Given the description of an element on the screen output the (x, y) to click on. 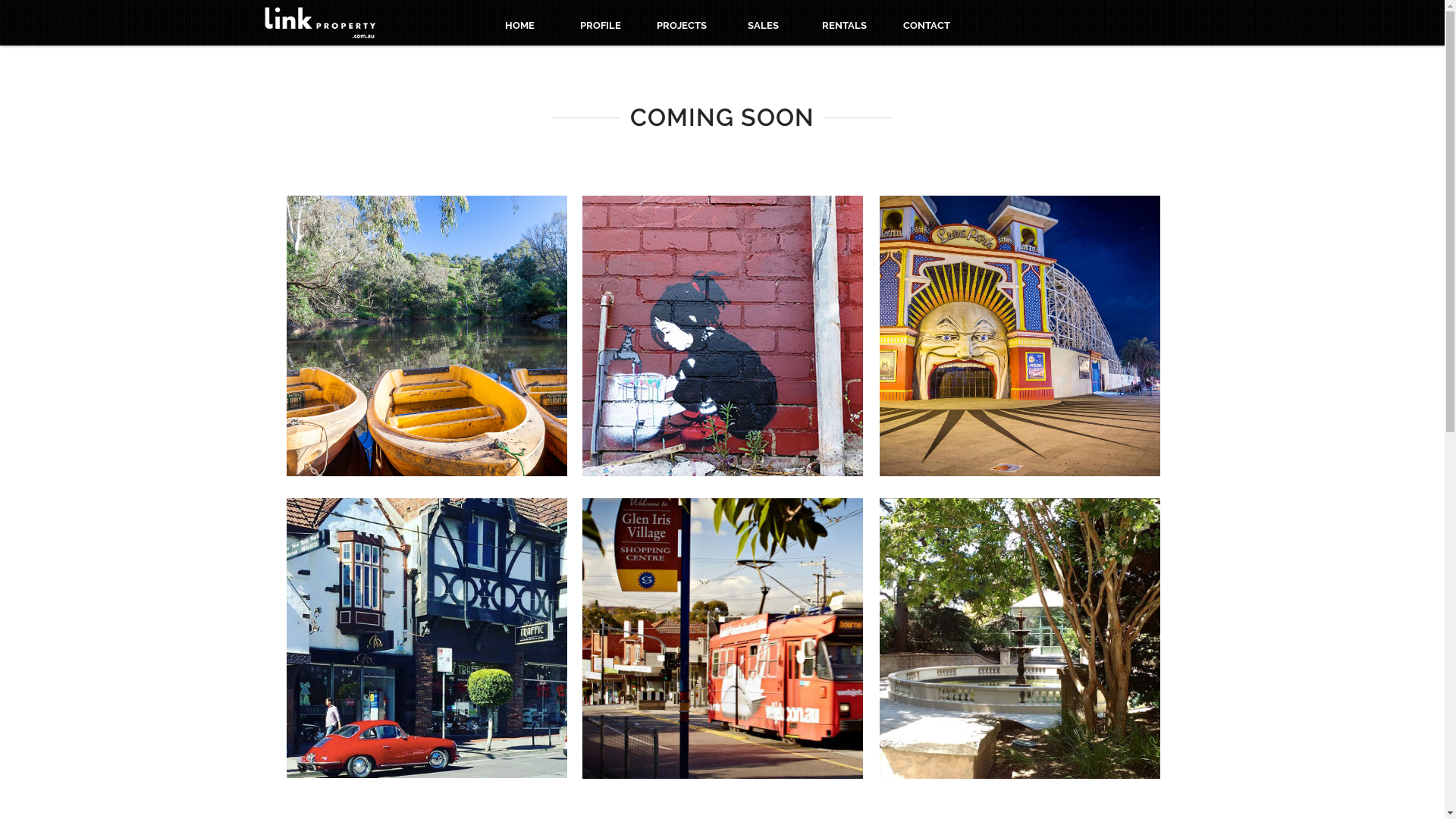
SALES Element type: text (763, 25)
PROFILE Element type: text (600, 25)
CONTACT Element type: text (925, 25)
RENTALS Element type: text (843, 25)
HOME Element type: text (518, 25)
